Given the description of an element on the screen output the (x, y) to click on. 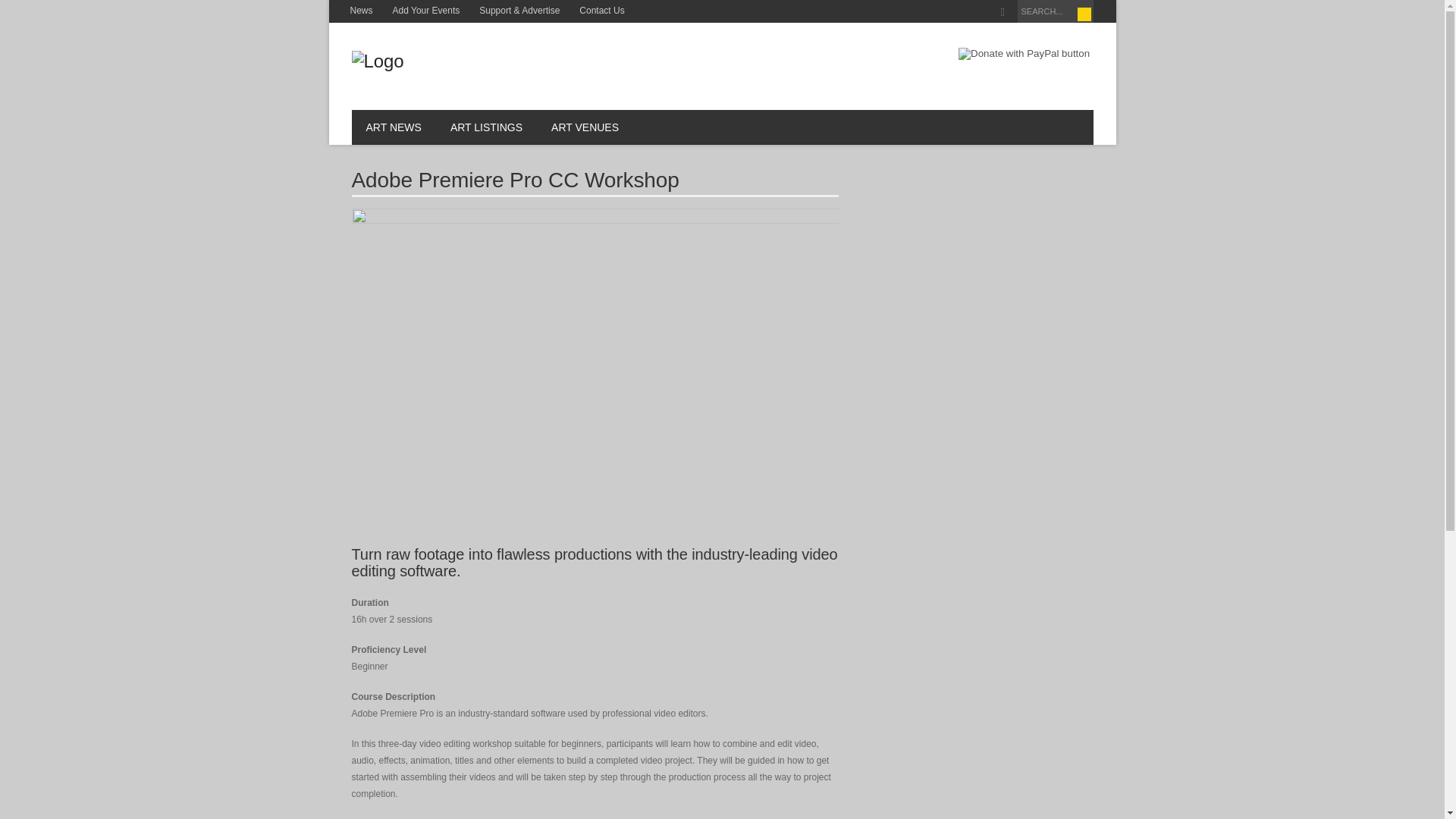
Contact Us (601, 11)
SEARCH... (1055, 11)
Facebook (1002, 11)
Search (1083, 14)
ART LISTINGS (486, 126)
PayPal - The safer, easier way to pay online! (1023, 53)
Add Your Events (426, 11)
Search (1083, 14)
News (360, 11)
ART NEWS (393, 126)
